Given the description of an element on the screen output the (x, y) to click on. 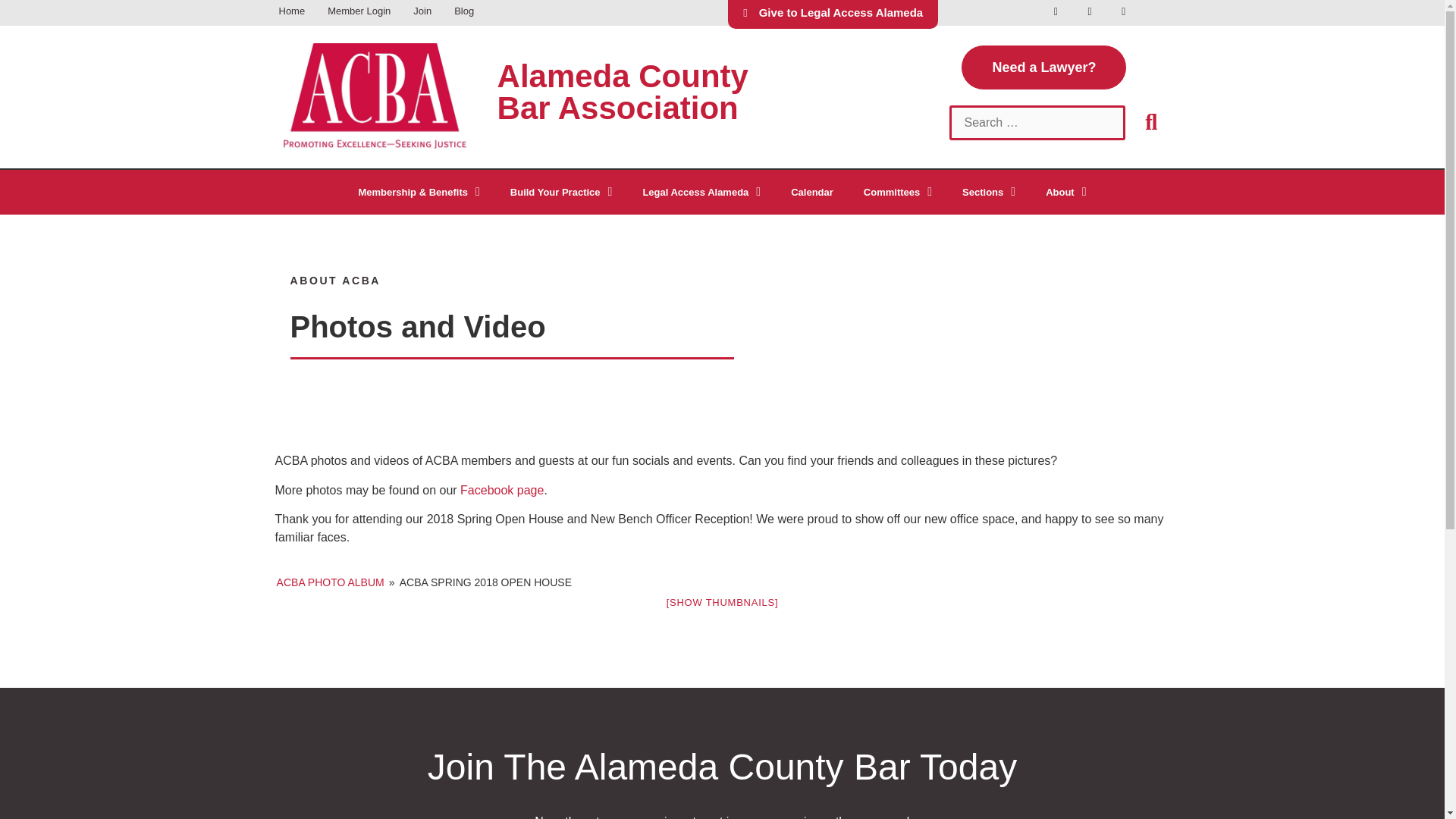
Give to Legal Access Alameda (832, 14)
Join (421, 12)
Need a Lawyer? (1043, 67)
Member Login (358, 12)
Home (290, 12)
Blog (463, 12)
Build Your Practice (561, 192)
Legal Access Alameda (701, 192)
Committees (897, 192)
Calendar (812, 192)
